Given the description of an element on the screen output the (x, y) to click on. 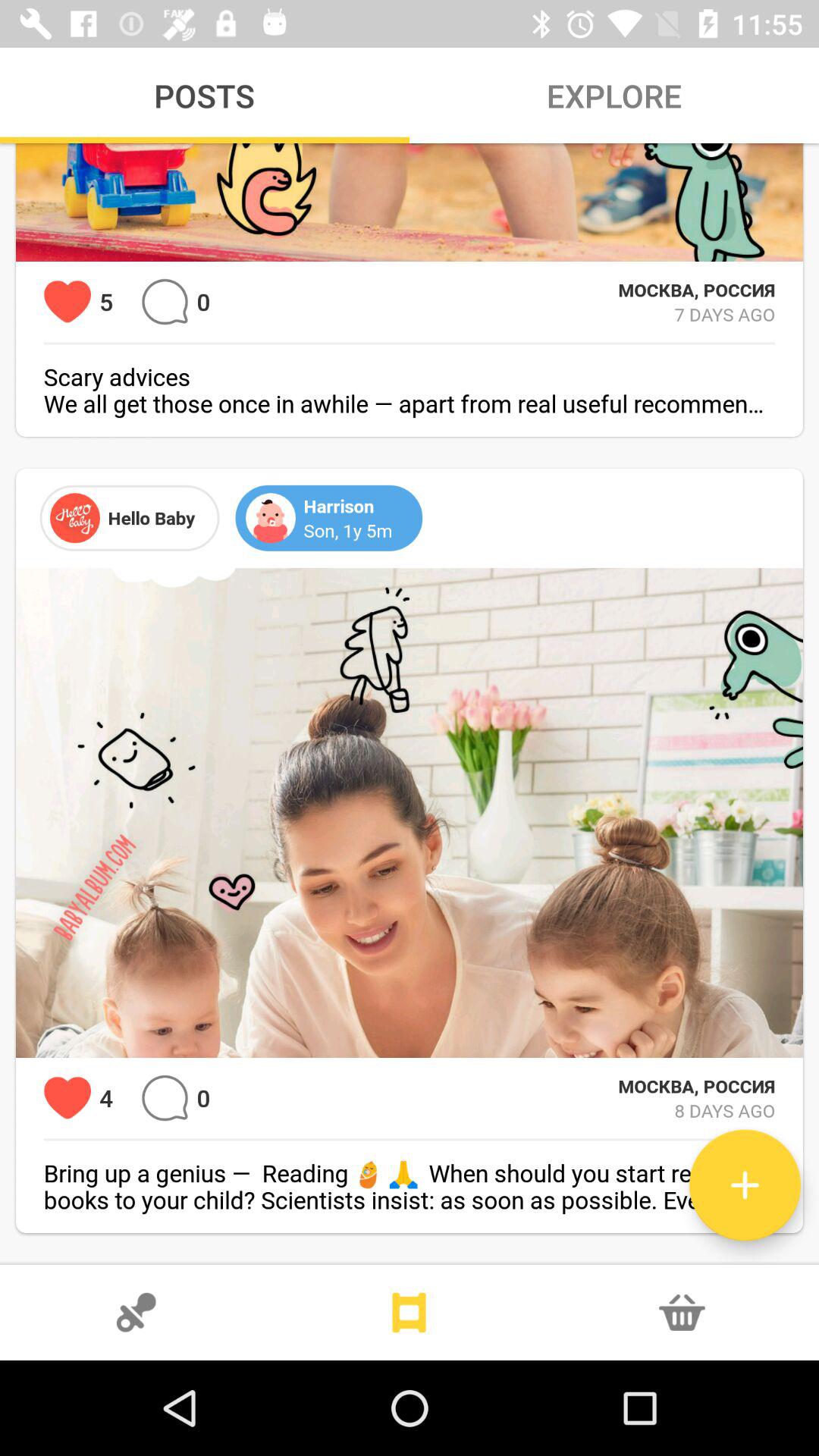
chat option (164, 301)
